Given the description of an element on the screen output the (x, y) to click on. 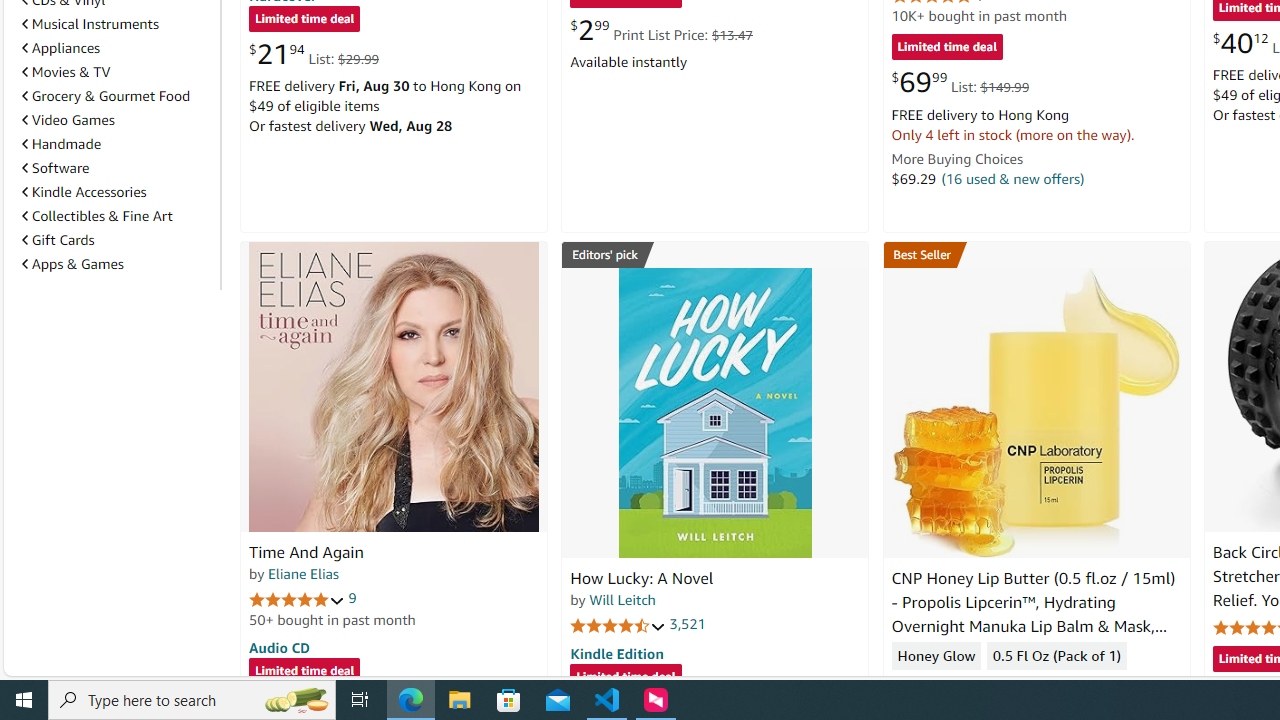
Software (117, 167)
Editors' pick Best Mystery, Thriller & Suspense (715, 254)
Movies & TV (117, 71)
Appliances (61, 47)
Limited time deal (625, 678)
$21.94 List: $29.99 (314, 54)
Collectibles & Fine Art (117, 215)
Gift Cards (117, 239)
Software (55, 168)
3,521 (687, 624)
Kindle Edition (616, 653)
(16 used & new offers) (1012, 178)
Time And Again (393, 386)
$69.99 List: $149.99 (960, 82)
Video Games (117, 120)
